Given the description of an element on the screen output the (x, y) to click on. 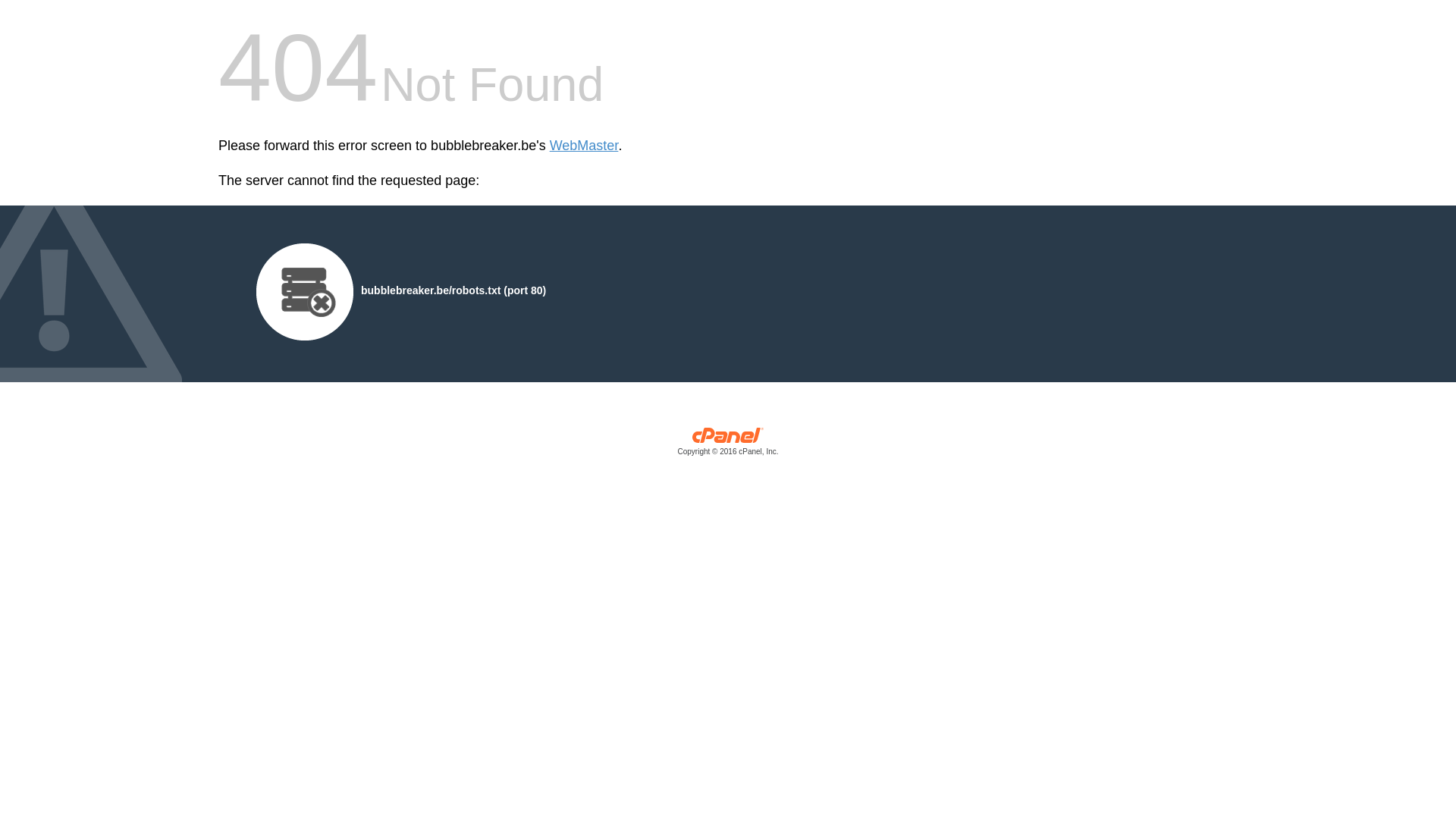
WebMaster Element type: text (583, 145)
